Given the description of an element on the screen output the (x, y) to click on. 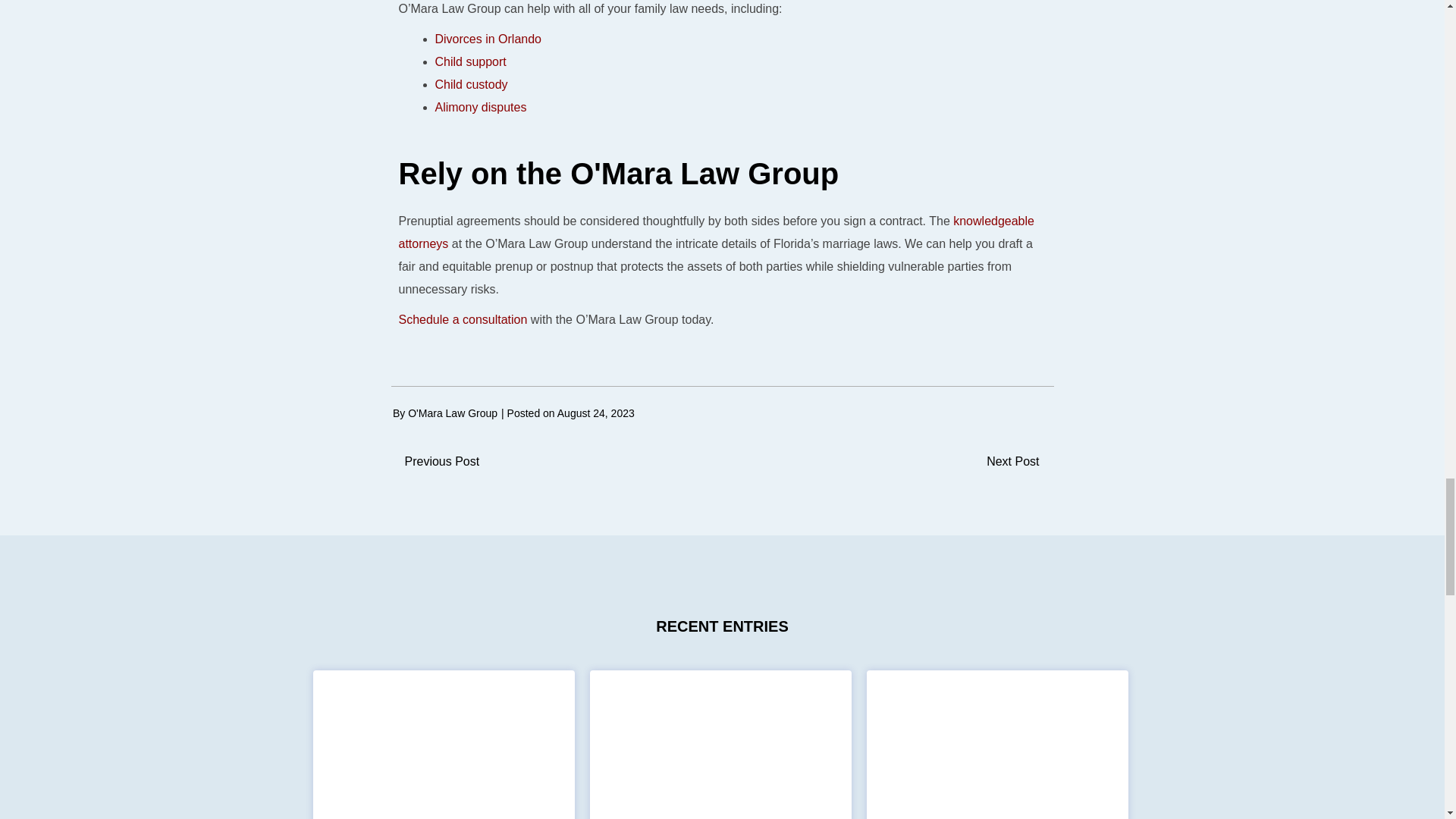
Questions to Ask a Criminal Defense Lawyer (720, 802)
Rights of the Custodial vs. Non-Custodial Parent Blog (996, 802)
How is Child Support Calculated in Florida? (443, 802)
